Given the description of an element on the screen output the (x, y) to click on. 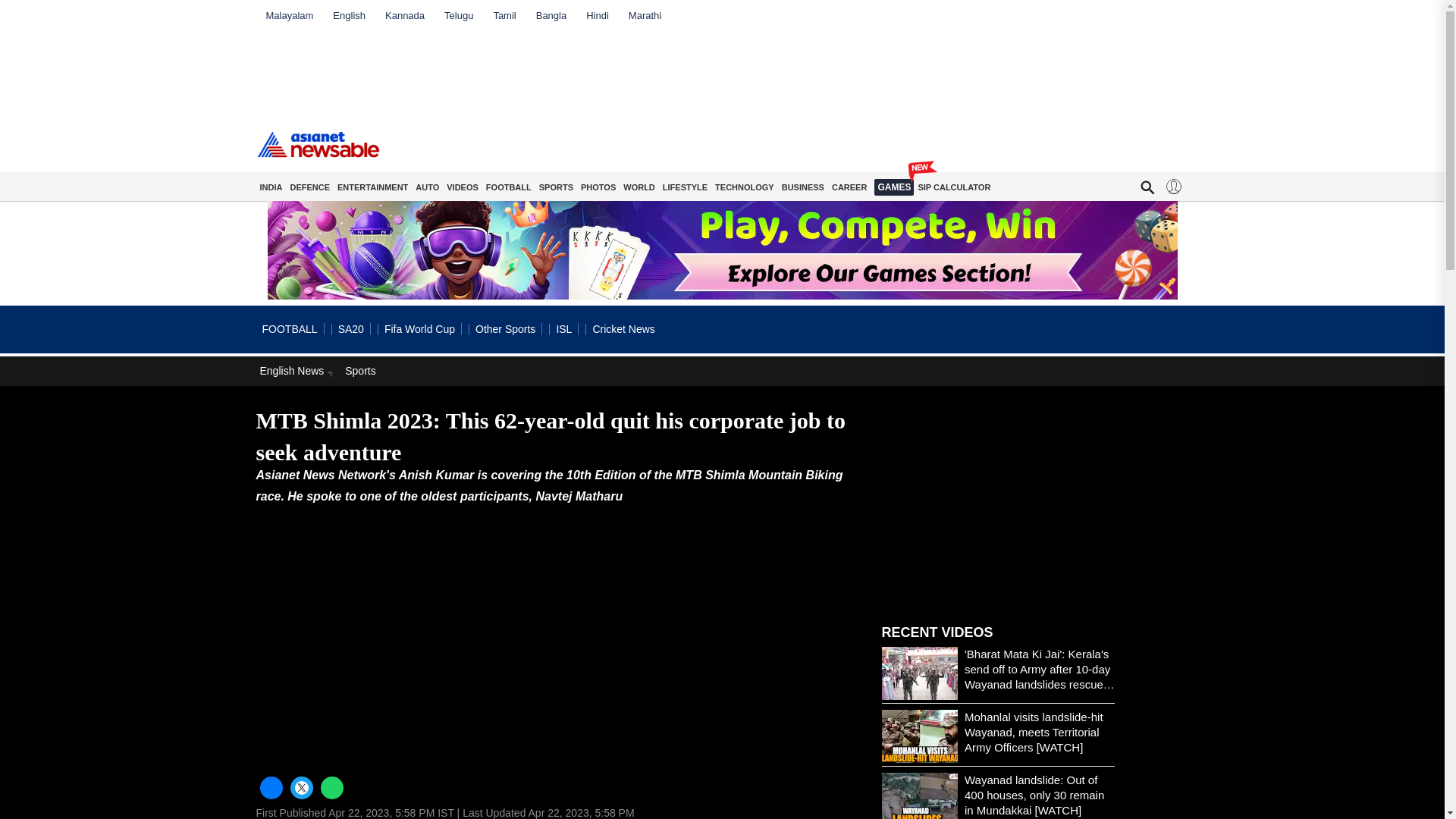
INDIA (271, 186)
Kannada (404, 14)
Tamil (504, 14)
Telugu (458, 14)
FOOTBALL (508, 186)
DEFENCE (309, 186)
Hindi (597, 14)
English (349, 14)
Bangla (550, 14)
GAMES (894, 187)
